Given the description of an element on the screen output the (x, y) to click on. 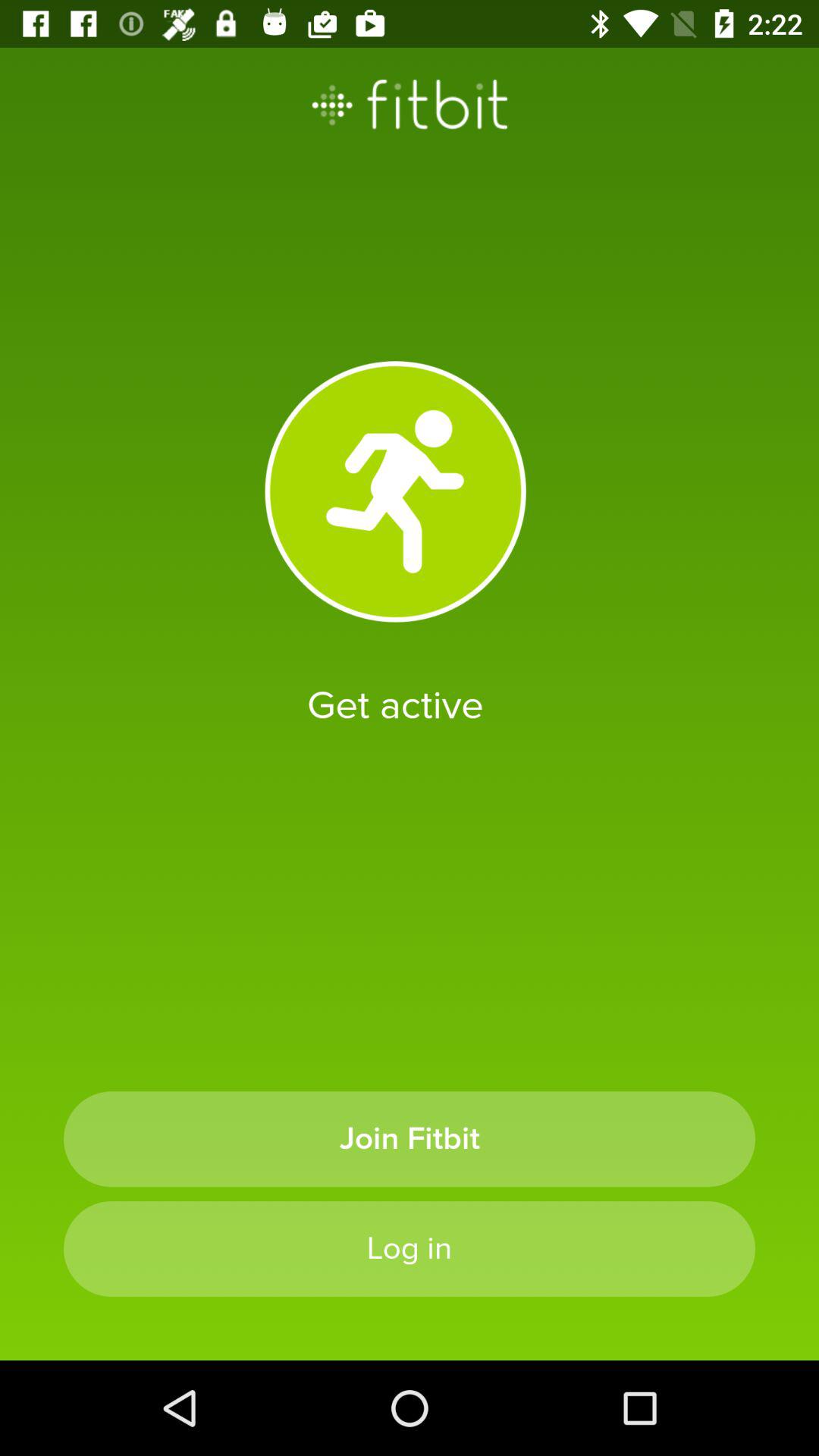
turn off join fitbit (409, 1138)
